Given the description of an element on the screen output the (x, y) to click on. 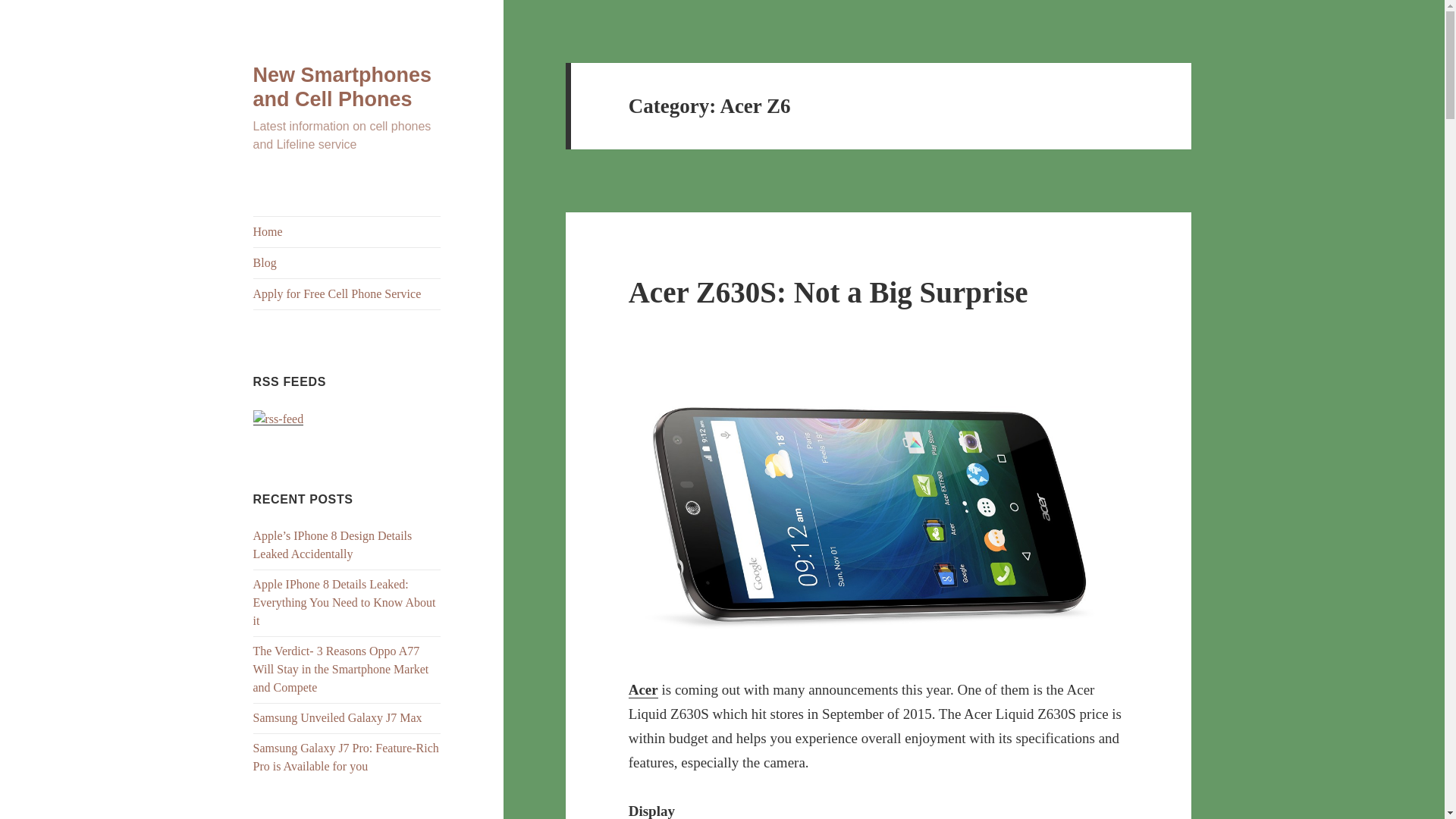
Samsung Galaxy J7 Pro: Feature-Rich Pro is Available for you (346, 757)
Apply for Free Cell Phone Service (347, 294)
RSS Feeds (278, 418)
New Smartphones and Cell Phones (342, 86)
Samsung Unveiled Galaxy J7 Max (337, 717)
Blog (347, 263)
Home (347, 232)
